Given the description of an element on the screen output the (x, y) to click on. 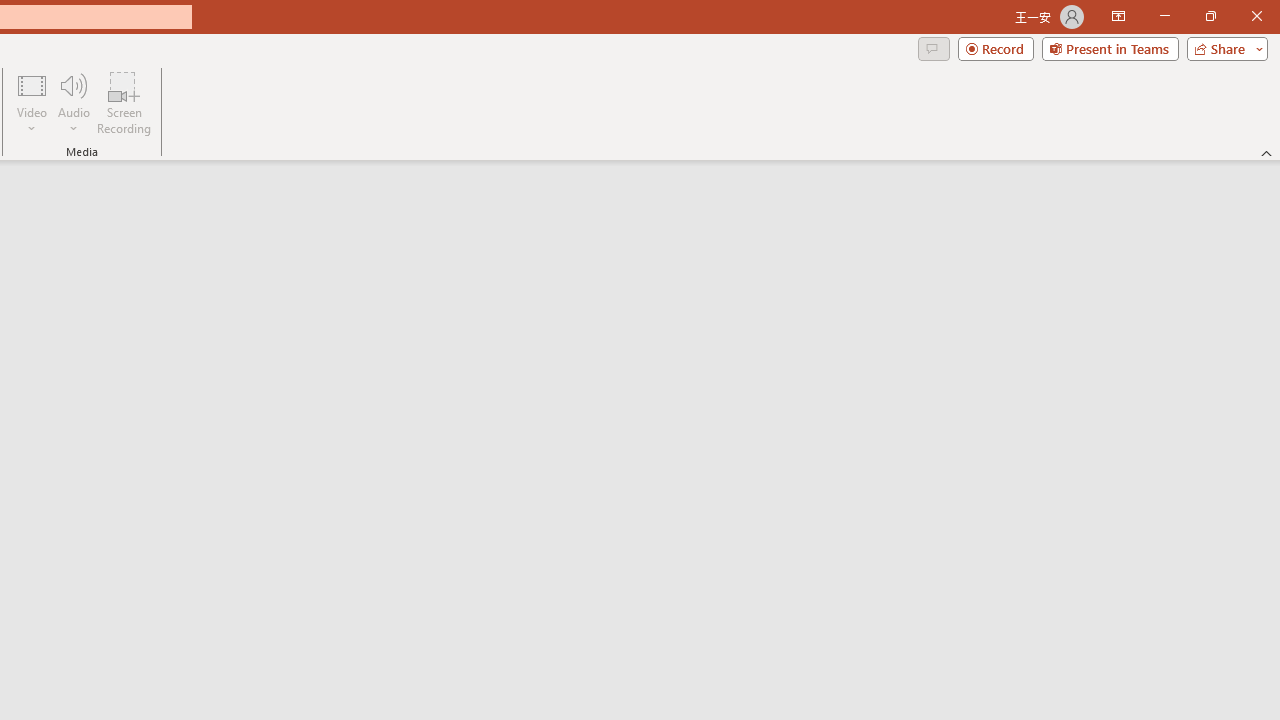
Restore Down (1210, 16)
Screen Recording... (123, 102)
Video (31, 102)
Audio (73, 102)
